Given the description of an element on the screen output the (x, y) to click on. 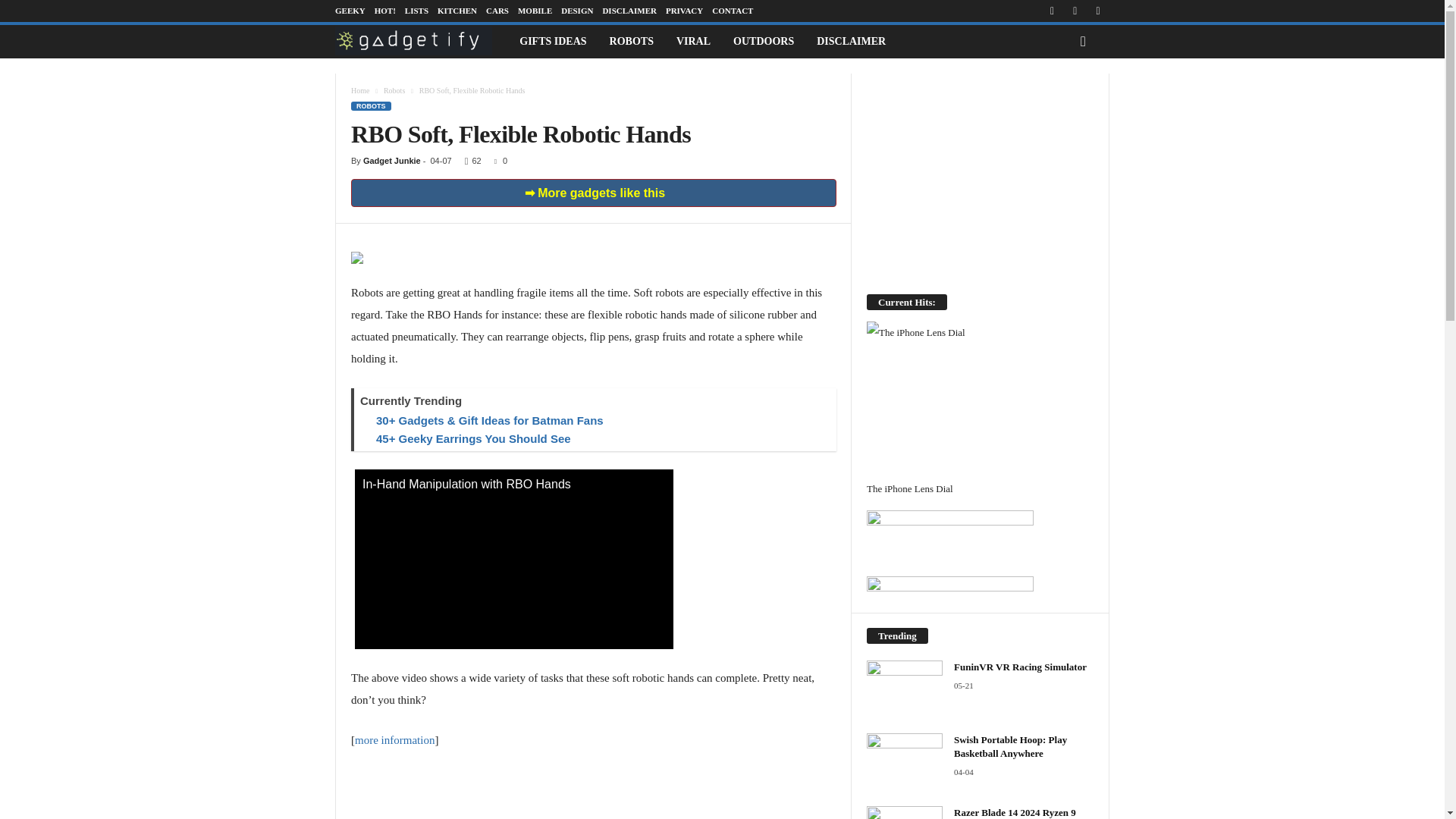
LISTS (416, 10)
GEEKY (349, 10)
HOT! (385, 10)
